Given the description of an element on the screen output the (x, y) to click on. 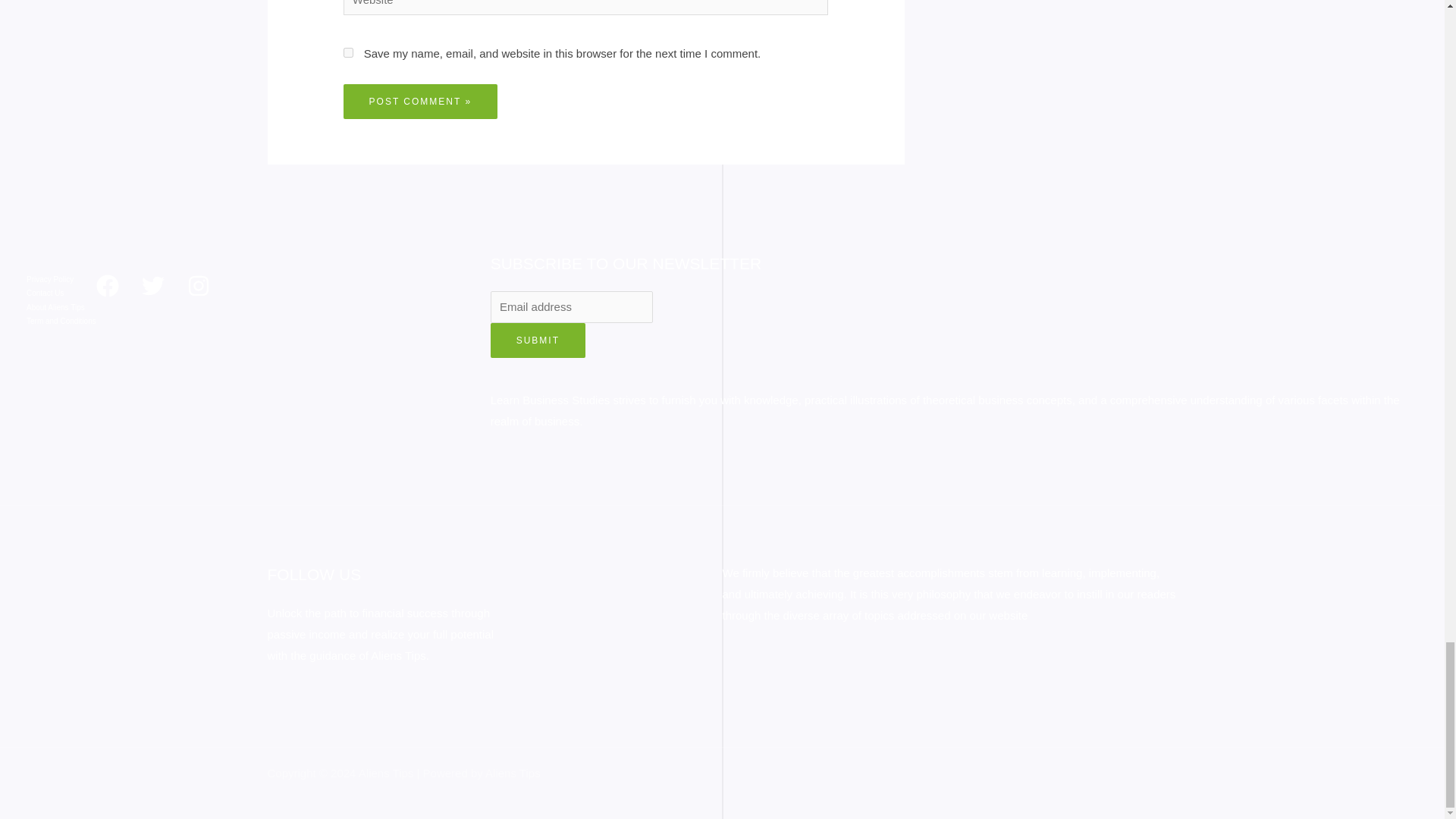
yes (348, 52)
